Given the description of an element on the screen output the (x, y) to click on. 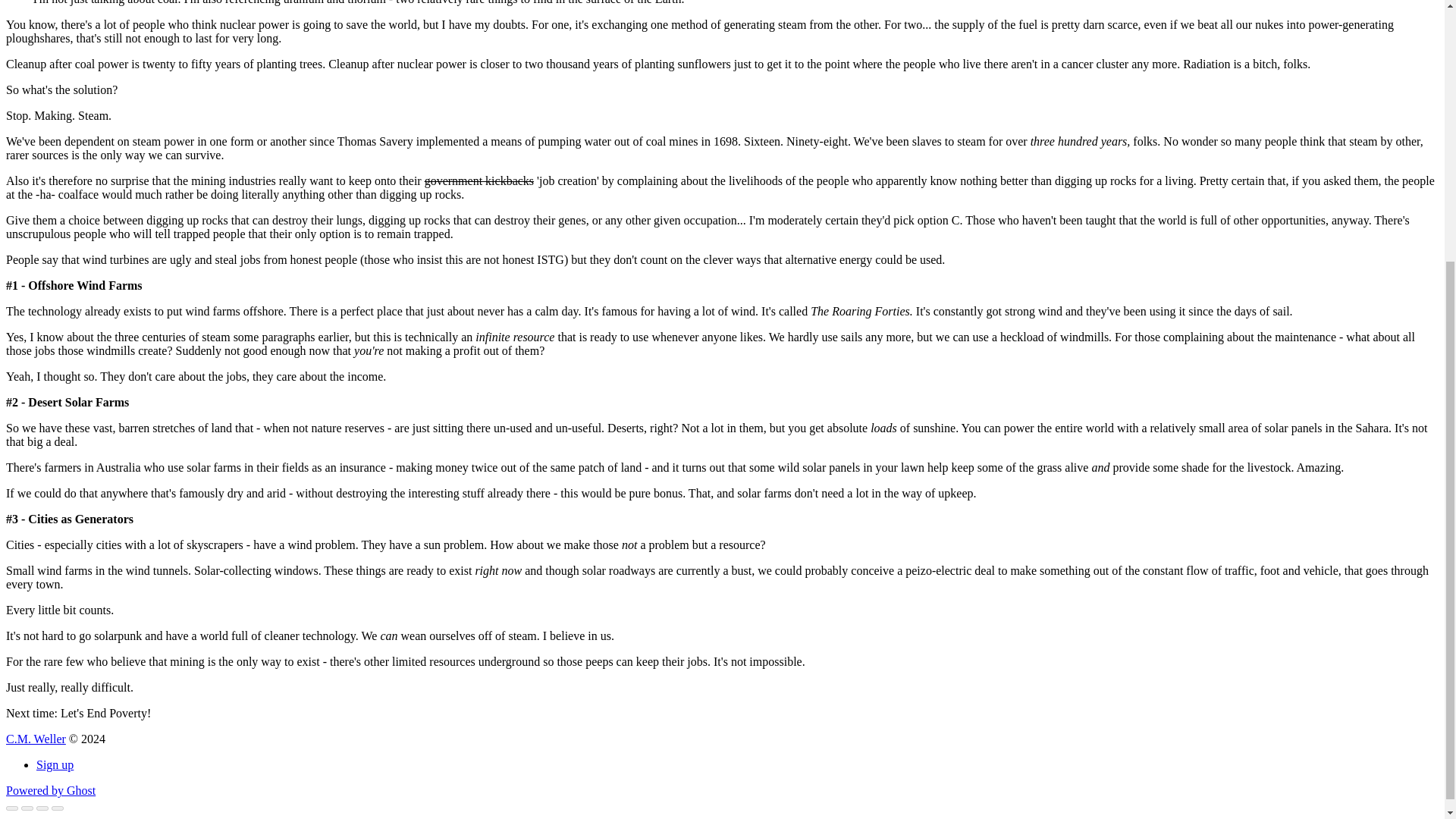
Share (27, 807)
Toggle fullscreen (42, 807)
C.M. Weller (35, 738)
Powered by Ghost (50, 789)
Sign up (55, 764)
